Given the description of an element on the screen output the (x, y) to click on. 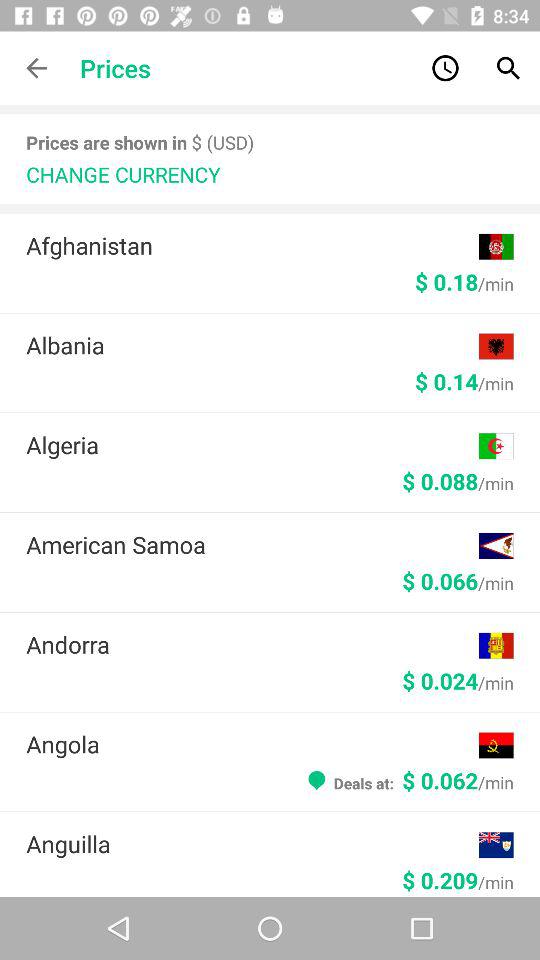
turn on the icon above the $ 0.14/min (252, 345)
